Given the description of an element on the screen output the (x, y) to click on. 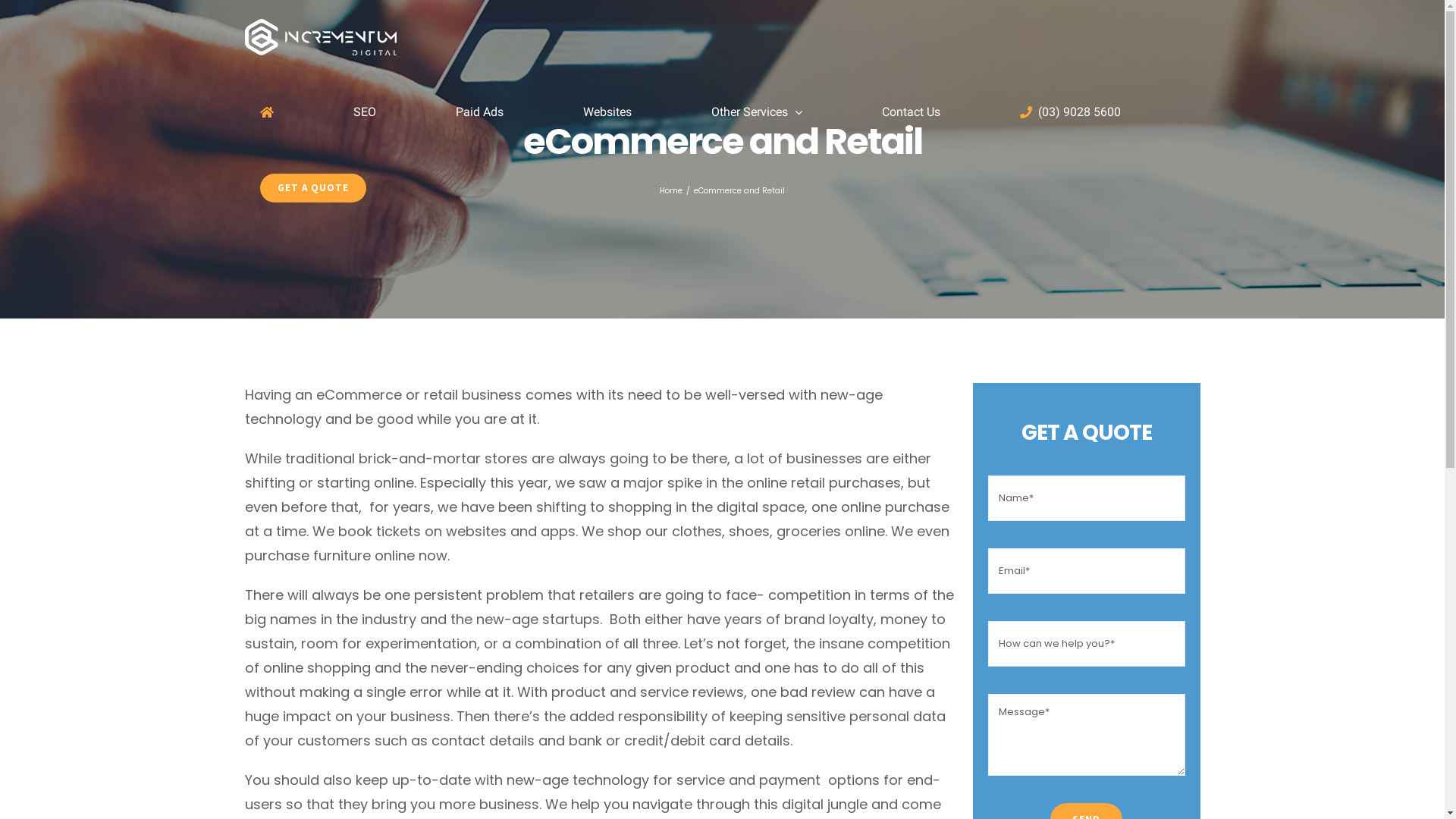
Contact Us Element type: text (910, 112)
(03) 9028 5600 Element type: text (1069, 112)
GET A QUOTE Element type: text (312, 187)
SUBMIT Element type: text (874, 489)
SEO Element type: text (364, 112)
Websites Element type: text (606, 112)
Paid Ads Element type: text (478, 112)
Other Services Element type: text (756, 112)
Home Element type: text (670, 190)
